Given the description of an element on the screen output the (x, y) to click on. 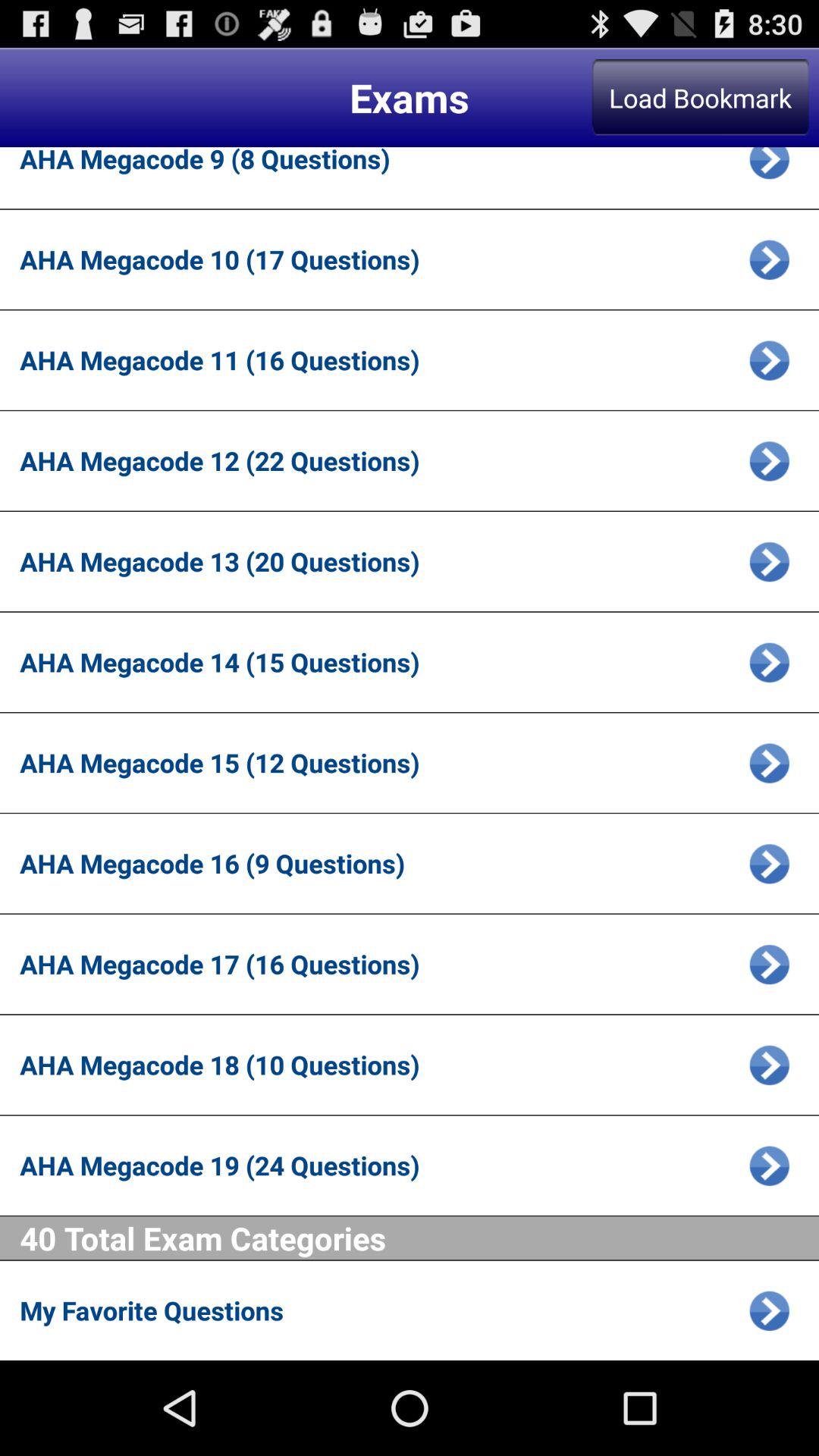
open selected exam (769, 460)
